Given the description of an element on the screen output the (x, y) to click on. 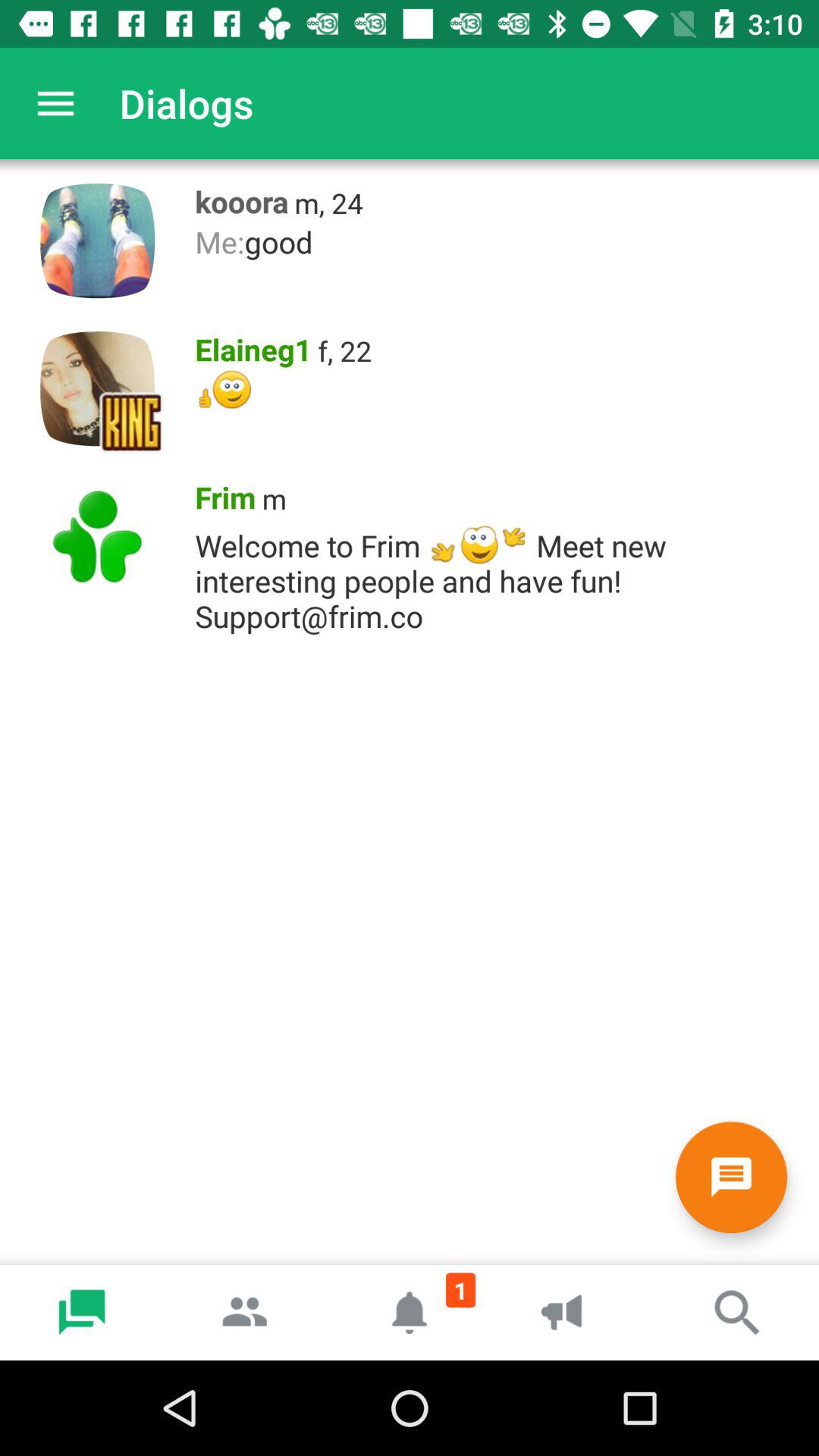
select welcome to frim (499, 576)
